Given the description of an element on the screen output the (x, y) to click on. 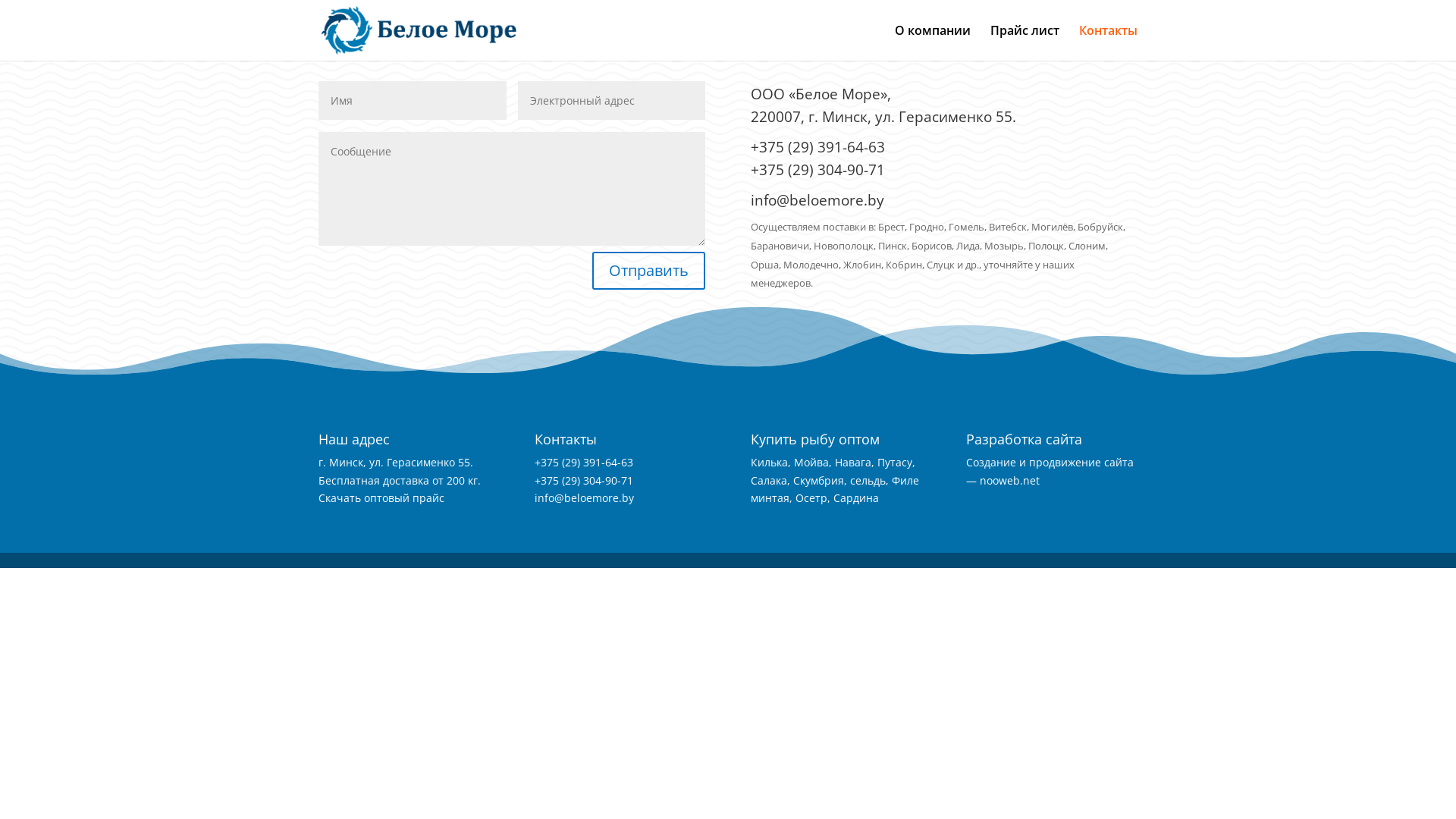
nooweb.net Element type: text (1009, 480)
info@beloemore.by Element type: text (817, 199)
+375 (29) 391-64-63
+375 (29) 304-90-71 Element type: text (817, 157)
